Given the description of an element on the screen output the (x, y) to click on. 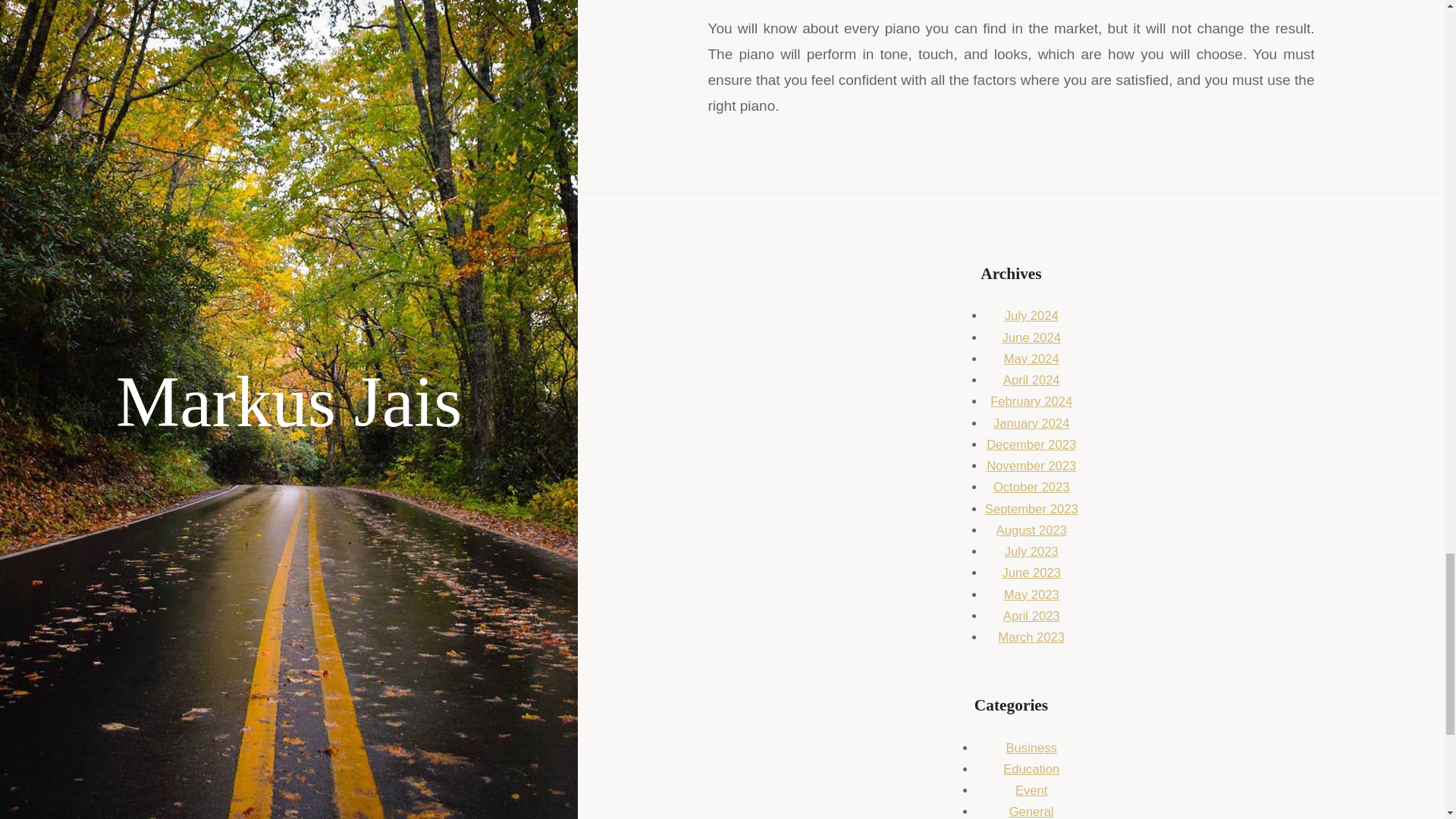
February 2024 (1030, 400)
Business (1031, 748)
July 2024 (1031, 315)
General (1031, 811)
July 2023 (1031, 551)
January 2024 (1031, 423)
Event (1030, 789)
October 2023 (1031, 486)
August 2023 (1031, 530)
April 2023 (1031, 616)
December 2023 (1031, 444)
September 2023 (1031, 509)
June 2024 (1031, 337)
May 2023 (1031, 594)
Education (1031, 769)
